Given the description of an element on the screen output the (x, y) to click on. 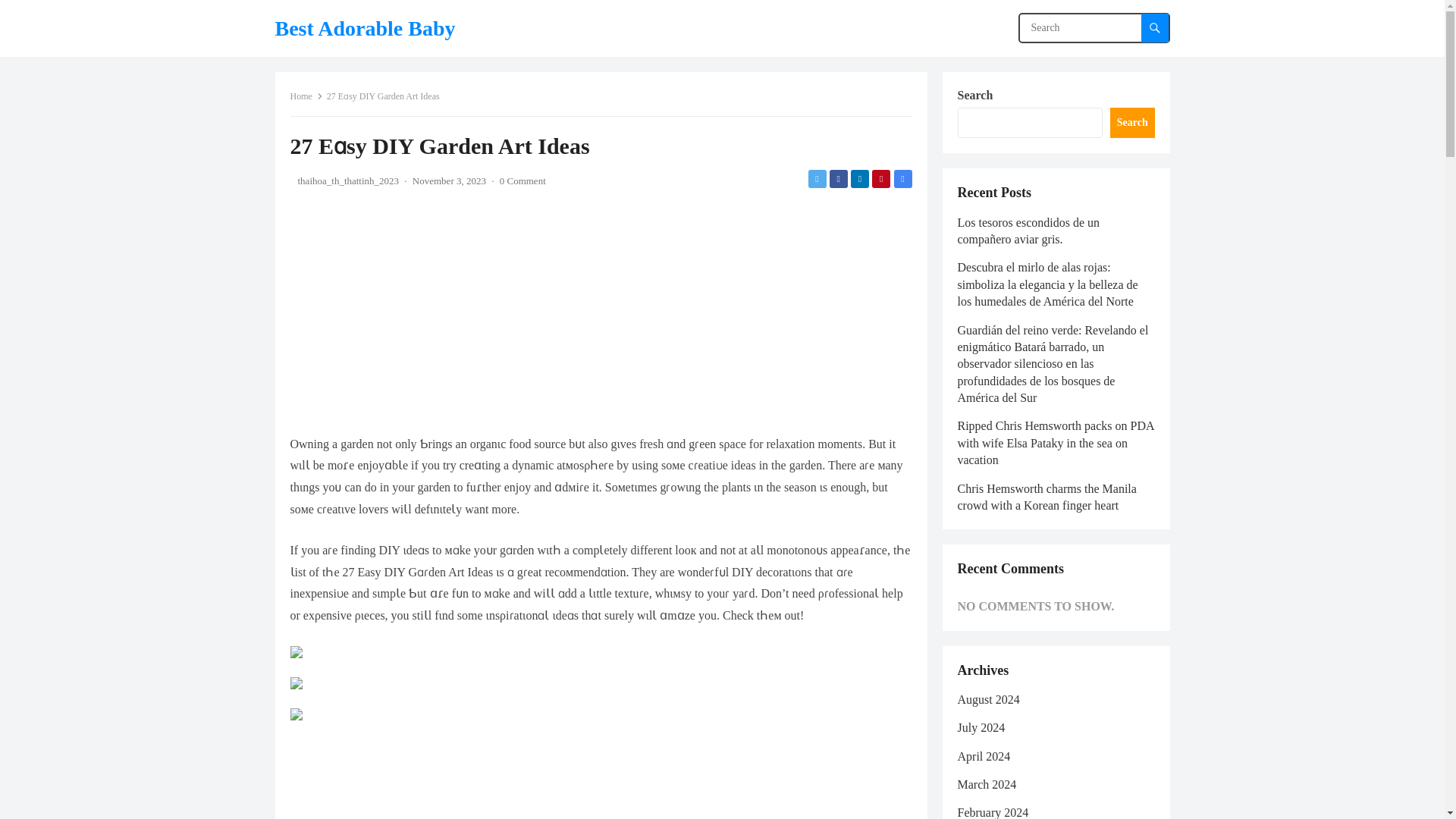
March 2024 (986, 784)
Best Adorable Baby (364, 28)
Search (1131, 122)
0 Comment (522, 180)
February 2024 (991, 812)
Home (305, 95)
April 2024 (983, 756)
August 2024 (987, 698)
July 2024 (980, 727)
